Given the description of an element on the screen output the (x, y) to click on. 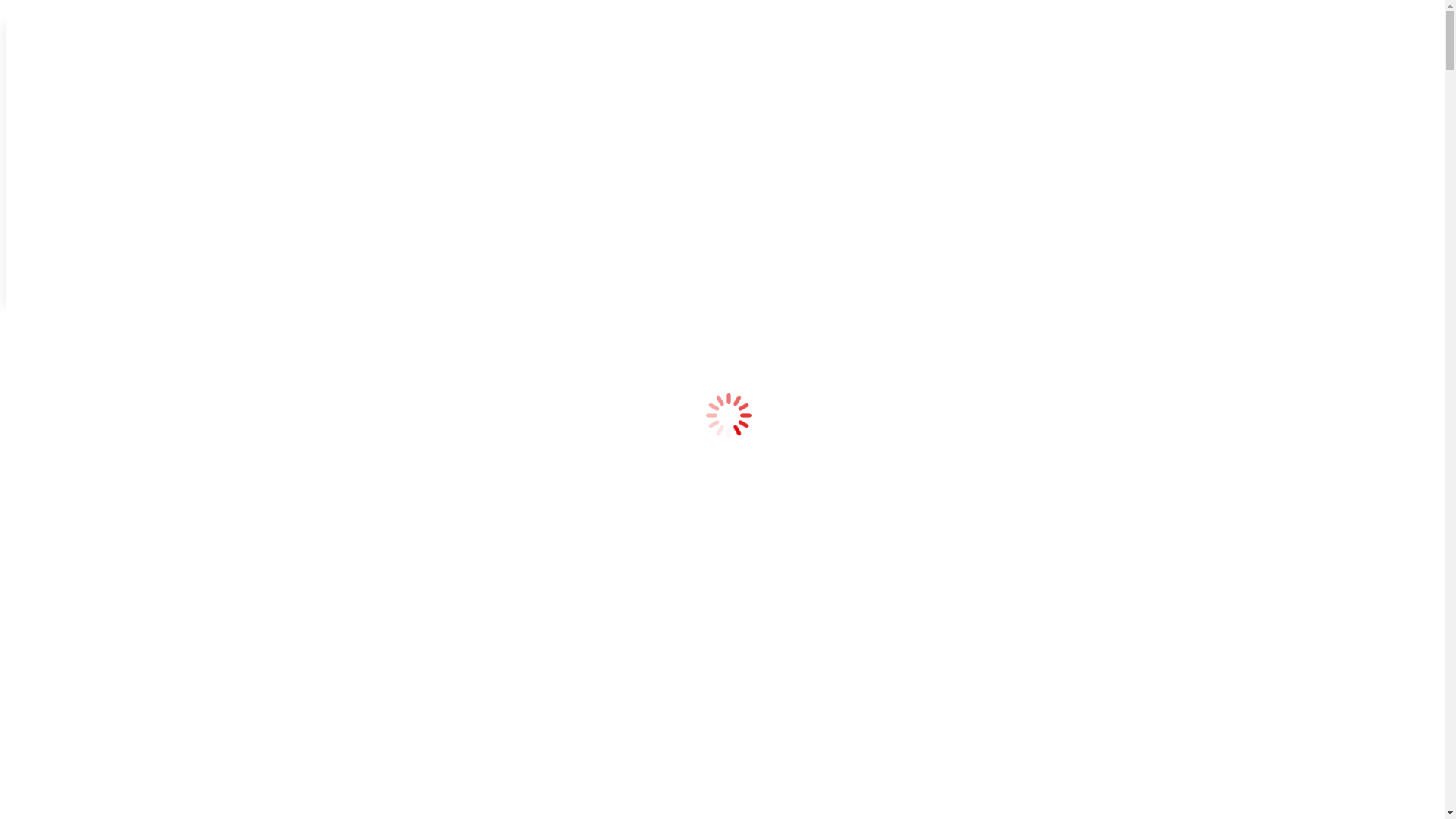
Aller au contenu Element type: text (46, 12)
Ouest Element type: text (80, 222)
Centre/Sud/Est Element type: text (103, 181)
Ouest Element type: text (80, 401)
Nous contacter Element type: text (72, 415)
Nous contacter Element type: text (72, 236)
Accueil Element type: text (55, 319)
Charleroi Element type: text (89, 195)
Aller ! Element type: text (24, 293)
Formulaire de recherche Element type: hover (73, 277)
Accueil Element type: text (55, 140)
Charleroi Element type: text (89, 374)
Centre/Sud/Est Element type: text (103, 360)
